Given the description of an element on the screen output the (x, y) to click on. 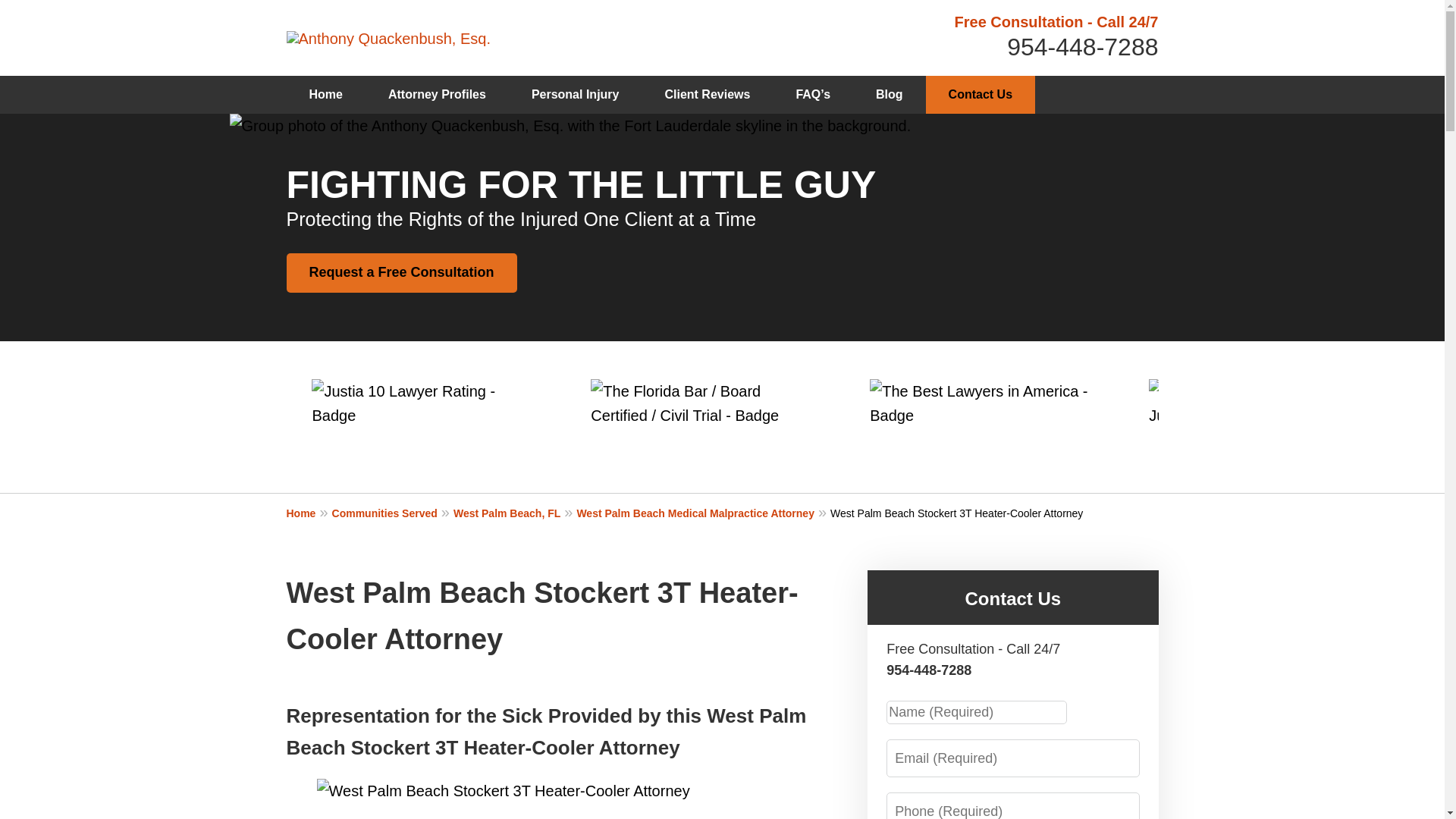
Client Reviews (707, 94)
Blog (889, 94)
954-448-7288 (1082, 46)
Contact Us (1012, 598)
West Palm Beach Medical Malpractice Attorney (702, 513)
Attorney Profiles (436, 94)
West Palm Beach, FL (514, 513)
Home (325, 94)
Personal Injury (575, 94)
Communities Served (391, 513)
